Given the description of an element on the screen output the (x, y) to click on. 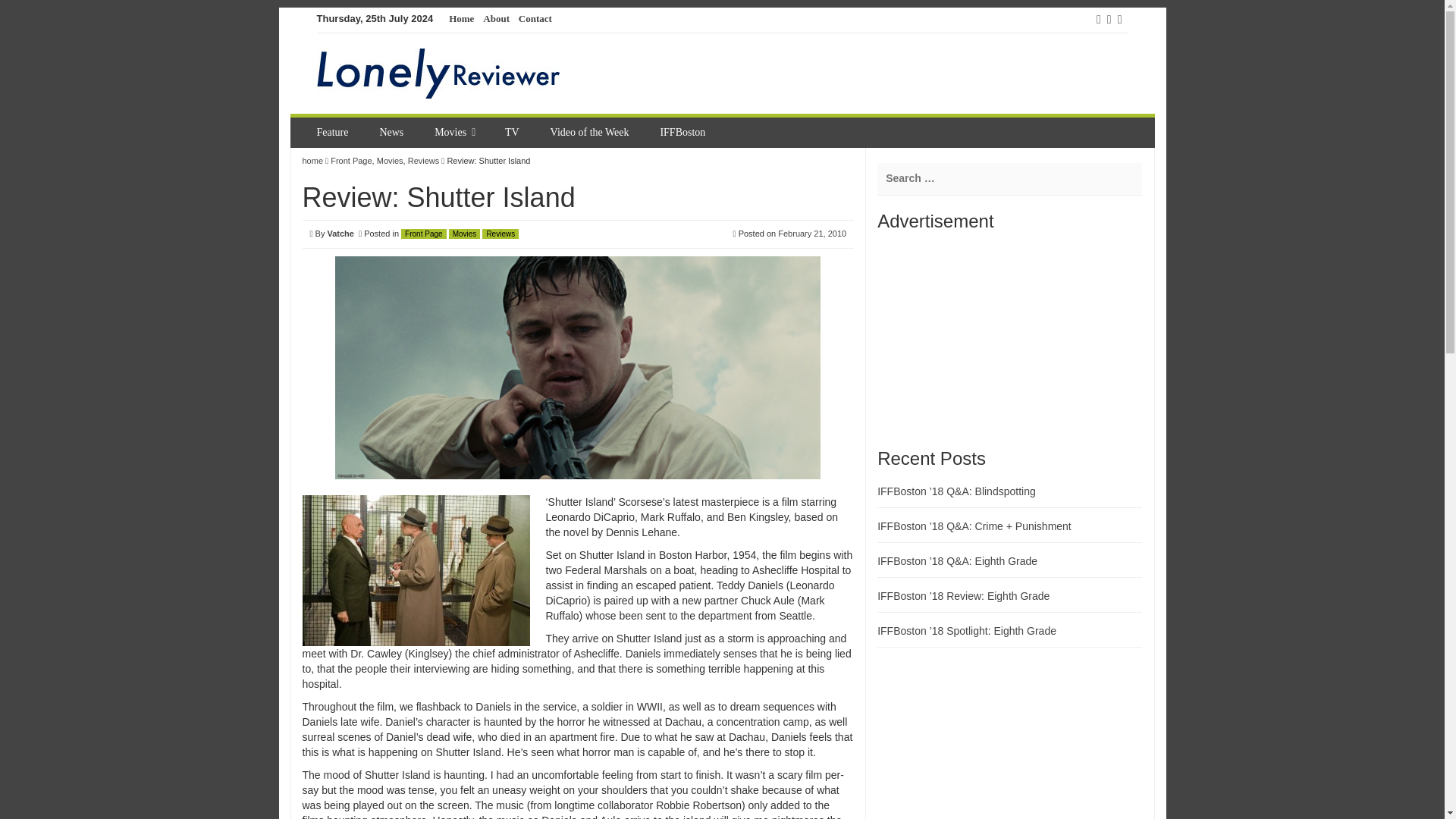
TV (514, 132)
Vatche (339, 233)
home (312, 160)
Shutter Island (415, 570)
February 21, 2010 (811, 233)
About (496, 19)
Reviews (499, 234)
IFFBoston (684, 132)
Feature (333, 132)
Reviews (423, 160)
News (392, 132)
Search (22, 9)
Front Page (423, 234)
Front Page (350, 160)
